Given the description of an element on the screen output the (x, y) to click on. 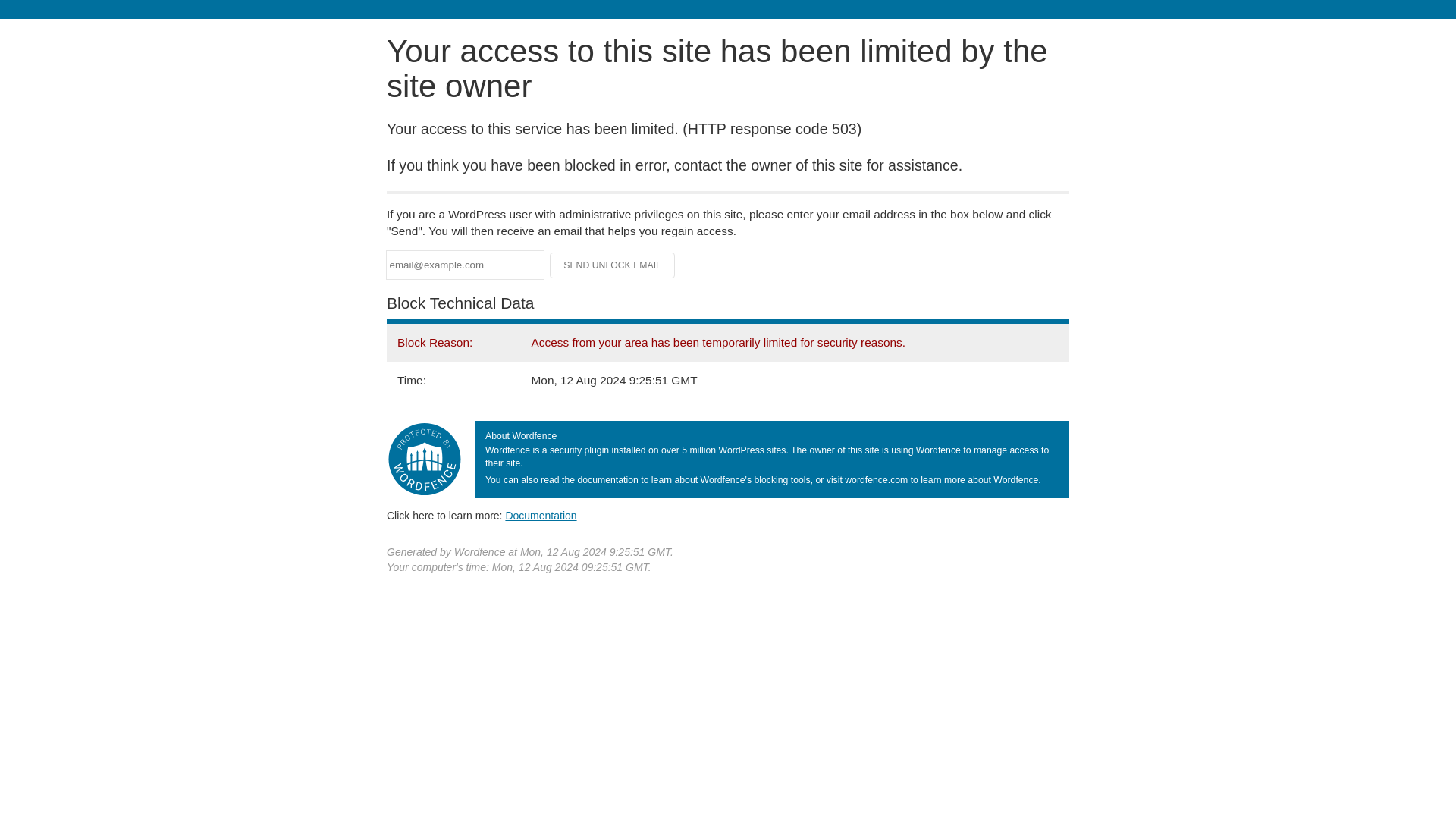
Send Unlock Email (612, 265)
Send Unlock Email (612, 265)
Documentation (540, 515)
